Given the description of an element on the screen output the (x, y) to click on. 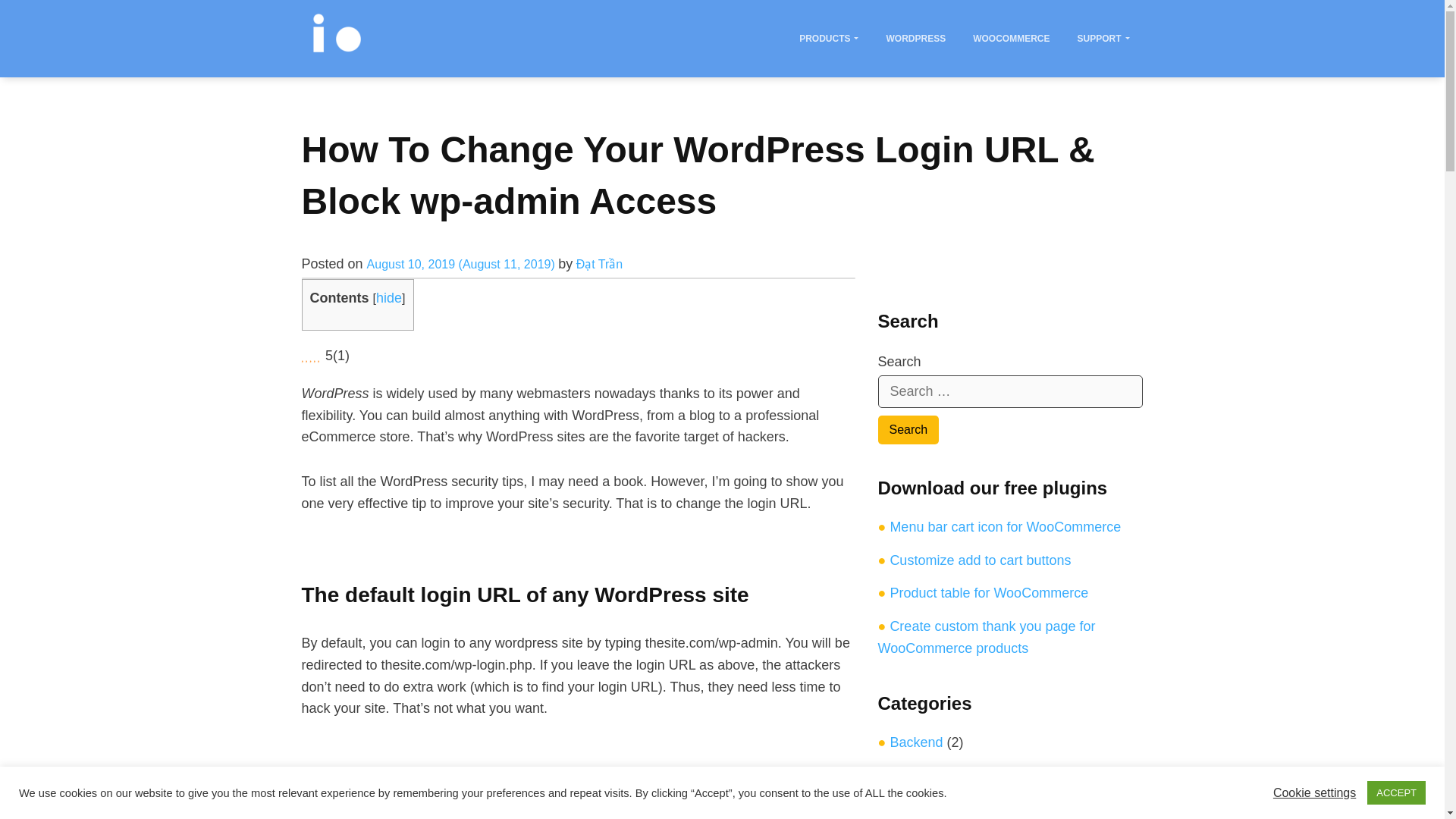
Blog (903, 775)
Customize add to cart buttons (979, 560)
Backend (915, 742)
WordPress (915, 38)
Create custom thank you page for WooCommerce products (986, 637)
Contact Form 7 (936, 807)
Support (1102, 38)
Search (908, 429)
Products (828, 38)
WORDPRESS (915, 38)
